Given the description of an element on the screen output the (x, y) to click on. 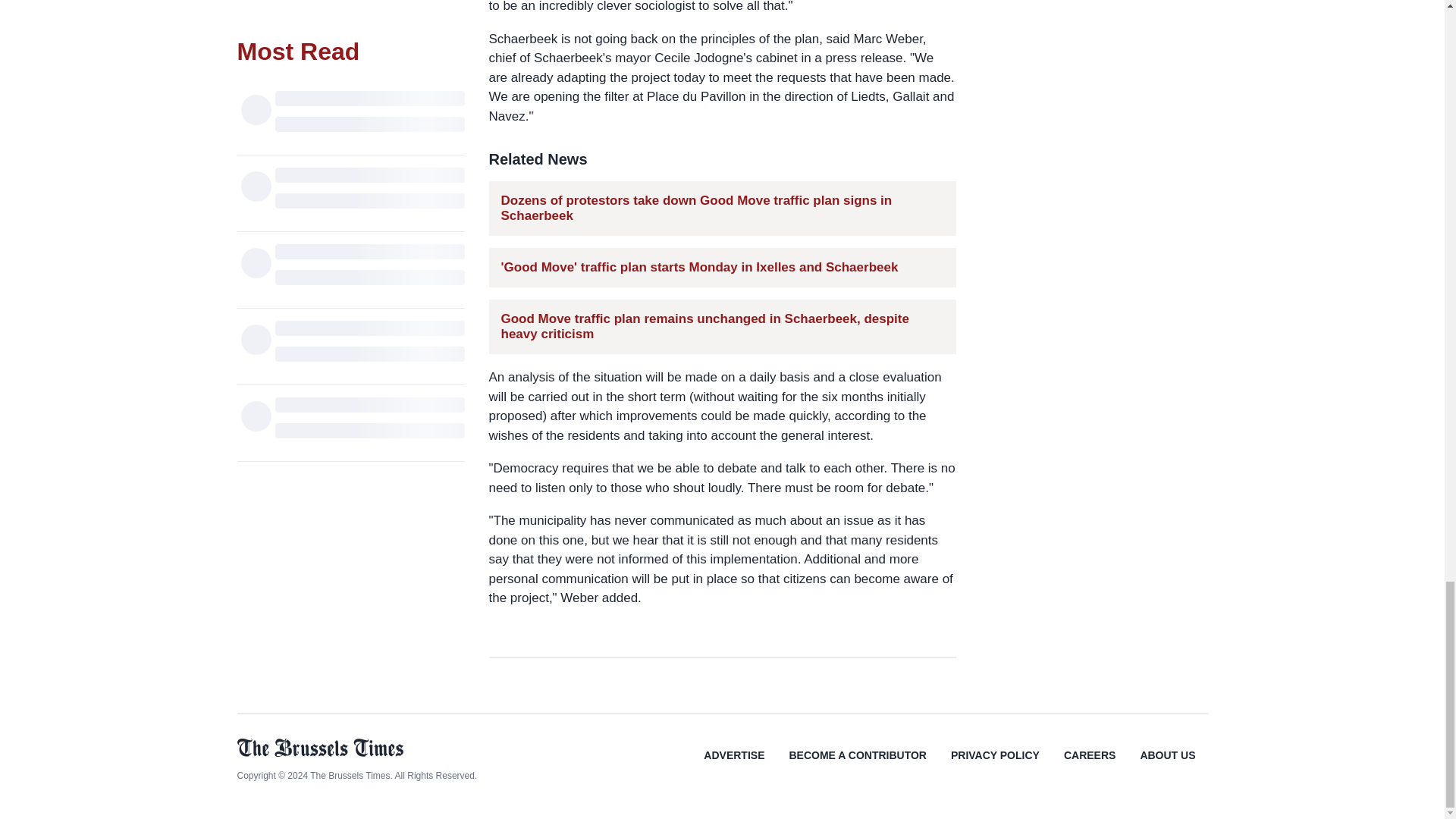
ABOUT US (1166, 766)
BECOME A CONTRIBUTOR (856, 766)
CAREERS (1088, 766)
PRIVACY POLICY (995, 766)
ADVERTISE (733, 766)
